Given the description of an element on the screen output the (x, y) to click on. 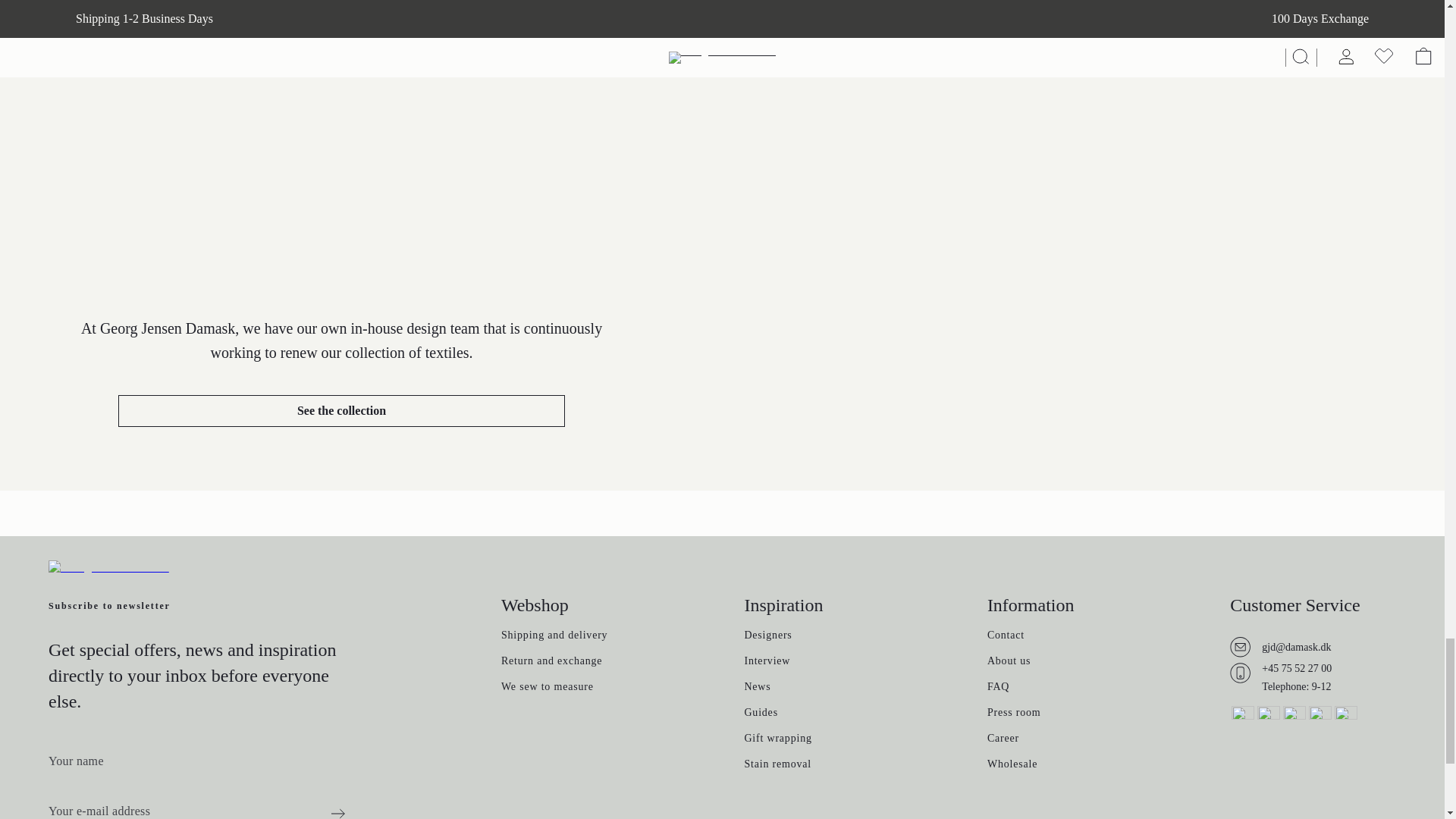
Press room (1014, 714)
Interview (767, 662)
About us (1008, 662)
Return and exchange (551, 662)
Contact (1006, 636)
We sew to measure (547, 688)
Shipping and delivery (553, 636)
See the collection (340, 410)
Designers (768, 636)
Gift wrapping (777, 739)
News (757, 688)
FAQ (998, 688)
Guides (760, 714)
Stain removal (777, 766)
